Given the description of an element on the screen output the (x, y) to click on. 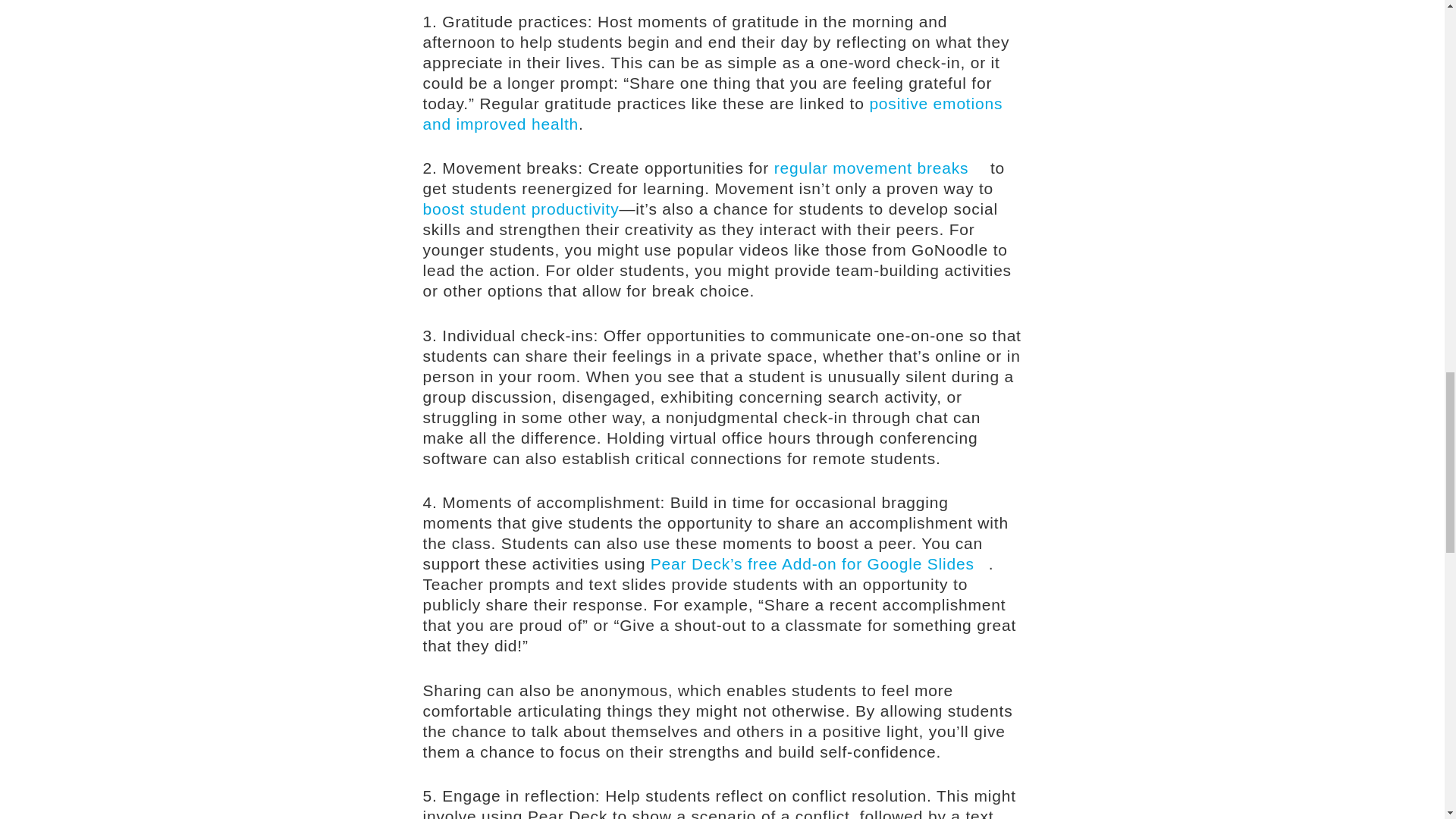
regular movement breaks (879, 167)
boost student productivity (521, 208)
positive emotions and improved health (713, 113)
